Given the description of an element on the screen output the (x, y) to click on. 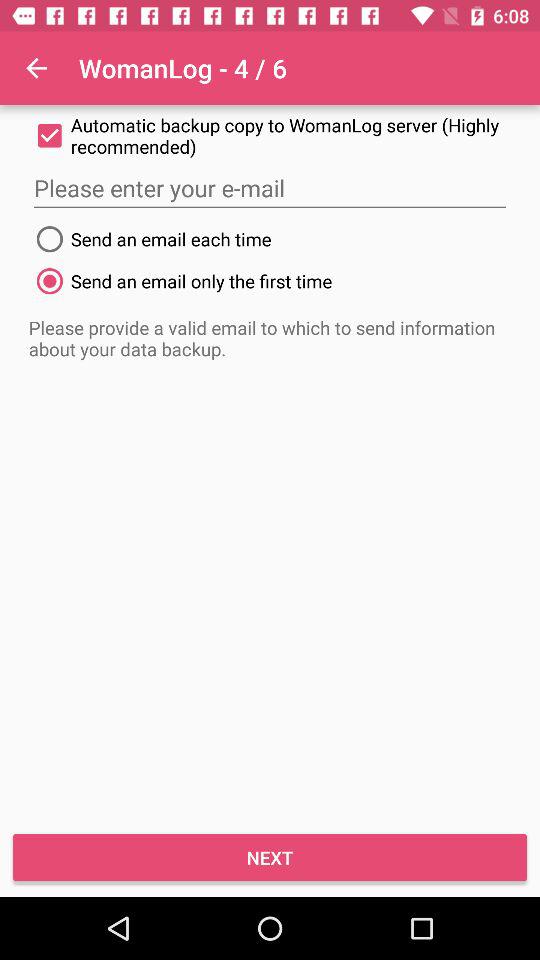
turn on app next to womanlog - 4 / 6 (36, 68)
